Given the description of an element on the screen output the (x, y) to click on. 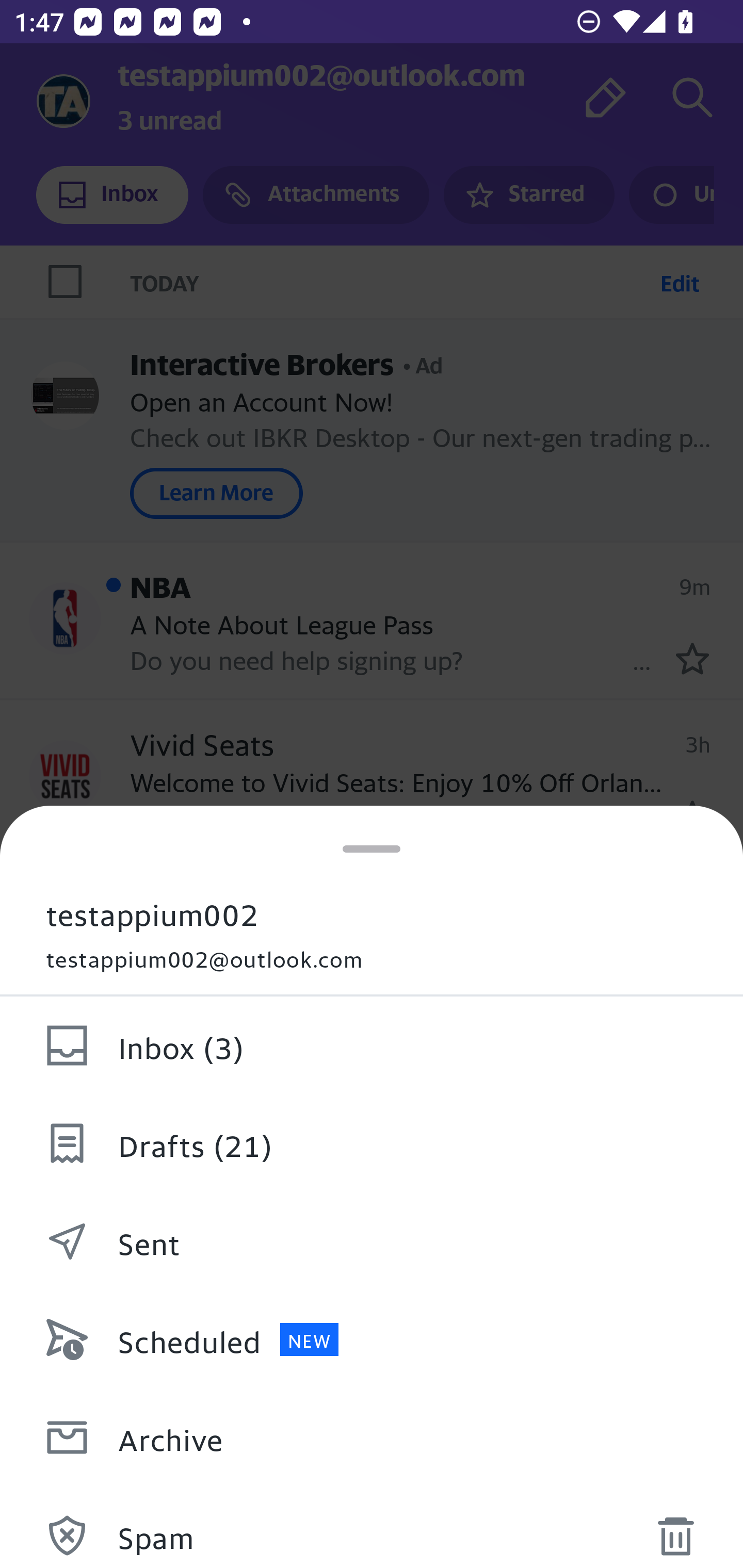
Inbox (3) (371, 1045)
Drafts (21) (371, 1143)
Sent (371, 1241)
Scheduled NEW (371, 1339)
Archive (371, 1437)
Spam Delete spam (371, 1527)
Delete spam (675, 1530)
